Given the description of an element on the screen output the (x, y) to click on. 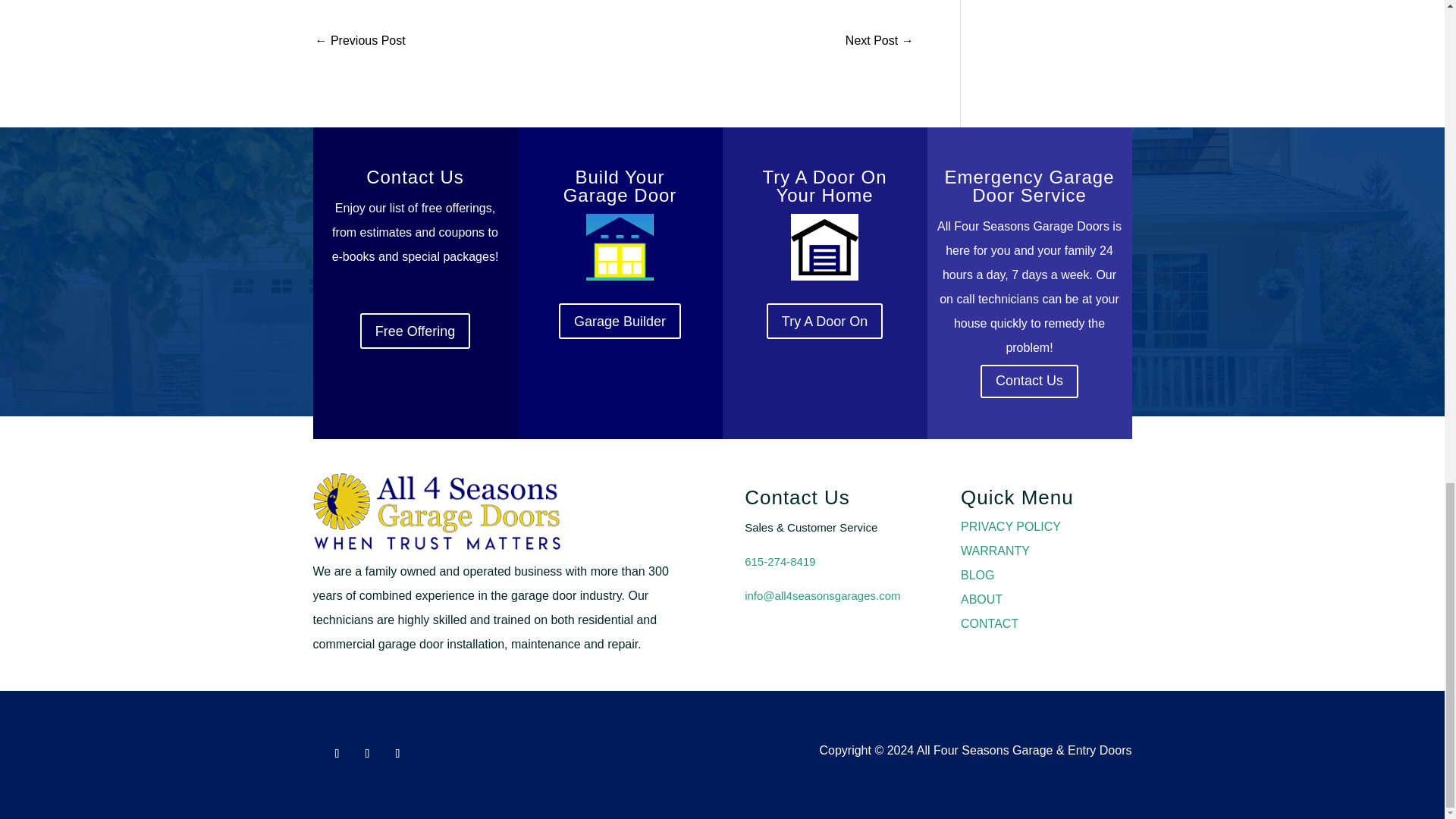
Garage Builder (620, 321)
Follow on Instagram (366, 753)
Contact Us (1028, 381)
Follow on X (397, 753)
Free Offering (414, 330)
garage door gif (823, 246)
Follow on Facebook (336, 753)
Try A Door On (824, 321)
Garage Build4 (619, 246)
